Given the description of an element on the screen output the (x, y) to click on. 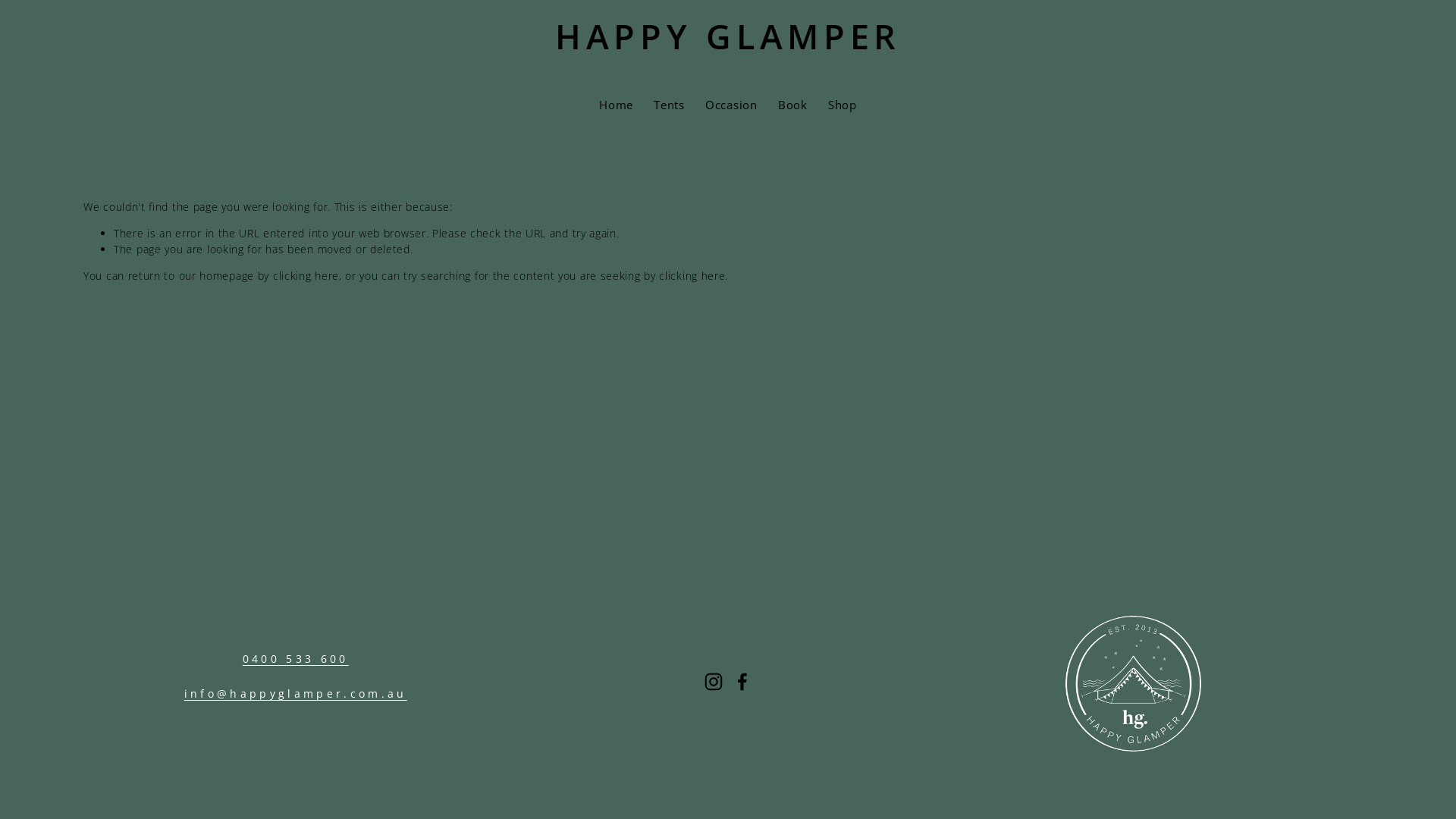
Home Element type: text (616, 104)
info@happyglamper.com.au Element type: text (295, 693)
HAPPY GLAMPER Element type: text (727, 35)
Tents Element type: text (668, 104)
Occasion Element type: text (731, 104)
clicking here Element type: text (691, 275)
0400 533 600 Element type: text (295, 658)
Shop Element type: text (842, 104)
Book Element type: text (792, 104)
clicking here Element type: text (305, 275)
